Given the description of an element on the screen output the (x, y) to click on. 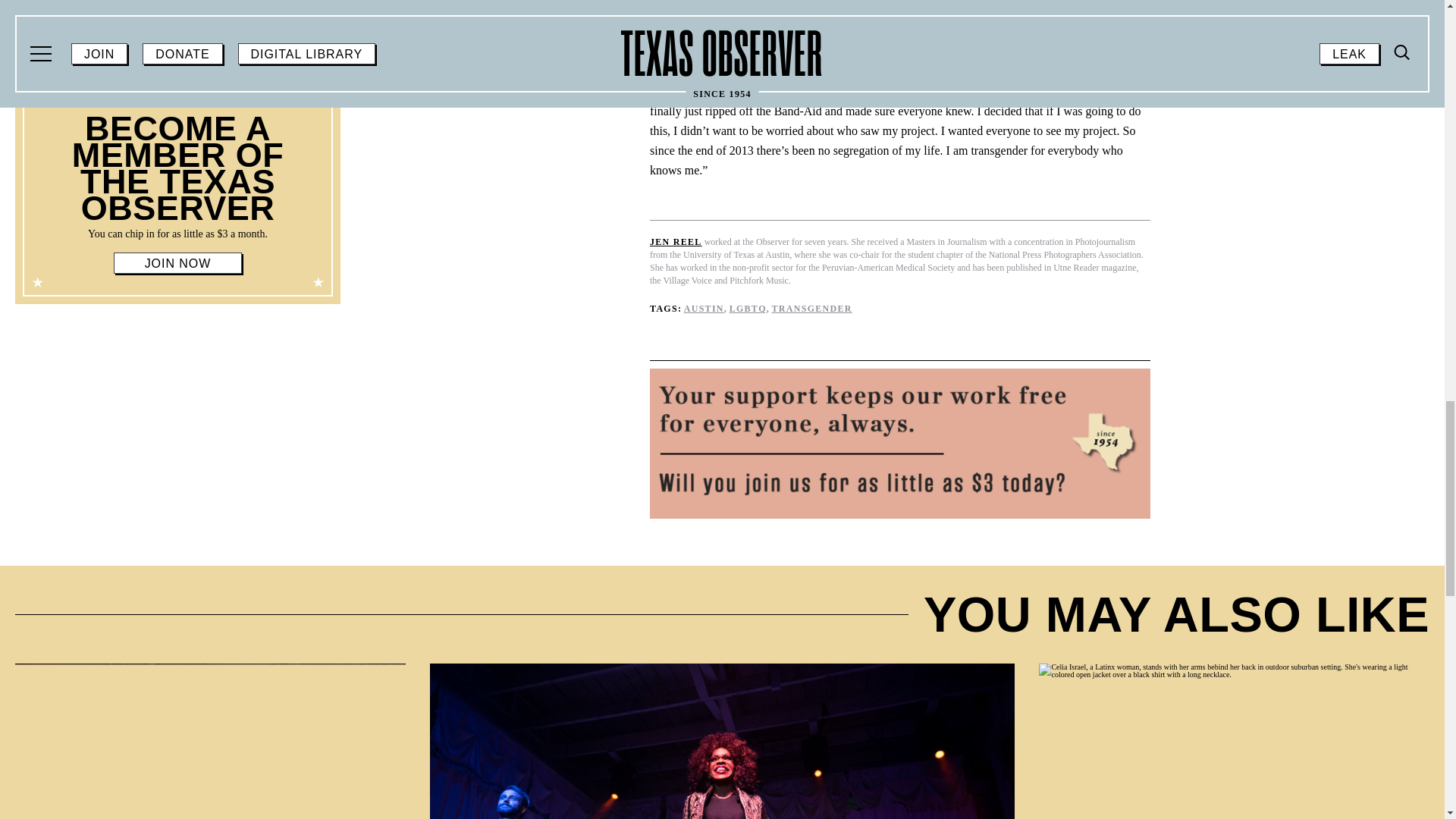
Page 8 (177, 173)
Posts by Jen Reel (675, 241)
Page 8 (177, 229)
